Given the description of an element on the screen output the (x, y) to click on. 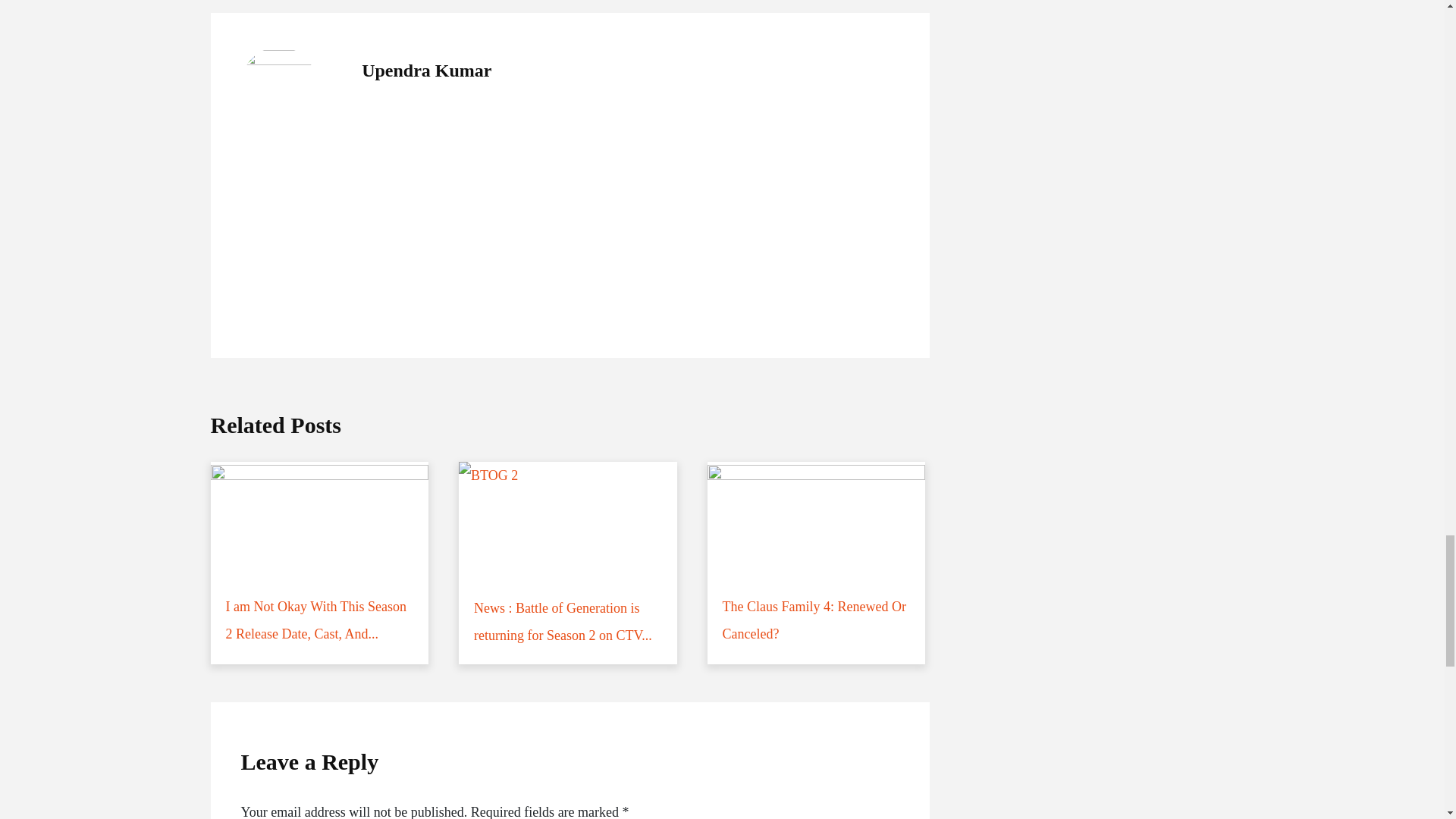
I am Not Okay With This Season 2 Release Date, Cast, And... (320, 561)
The Claus Family 4: Renewed Or Canceled? (816, 561)
The Claus Family 4: Renewed Or Canceled? (816, 561)
